Given the description of an element on the screen output the (x, y) to click on. 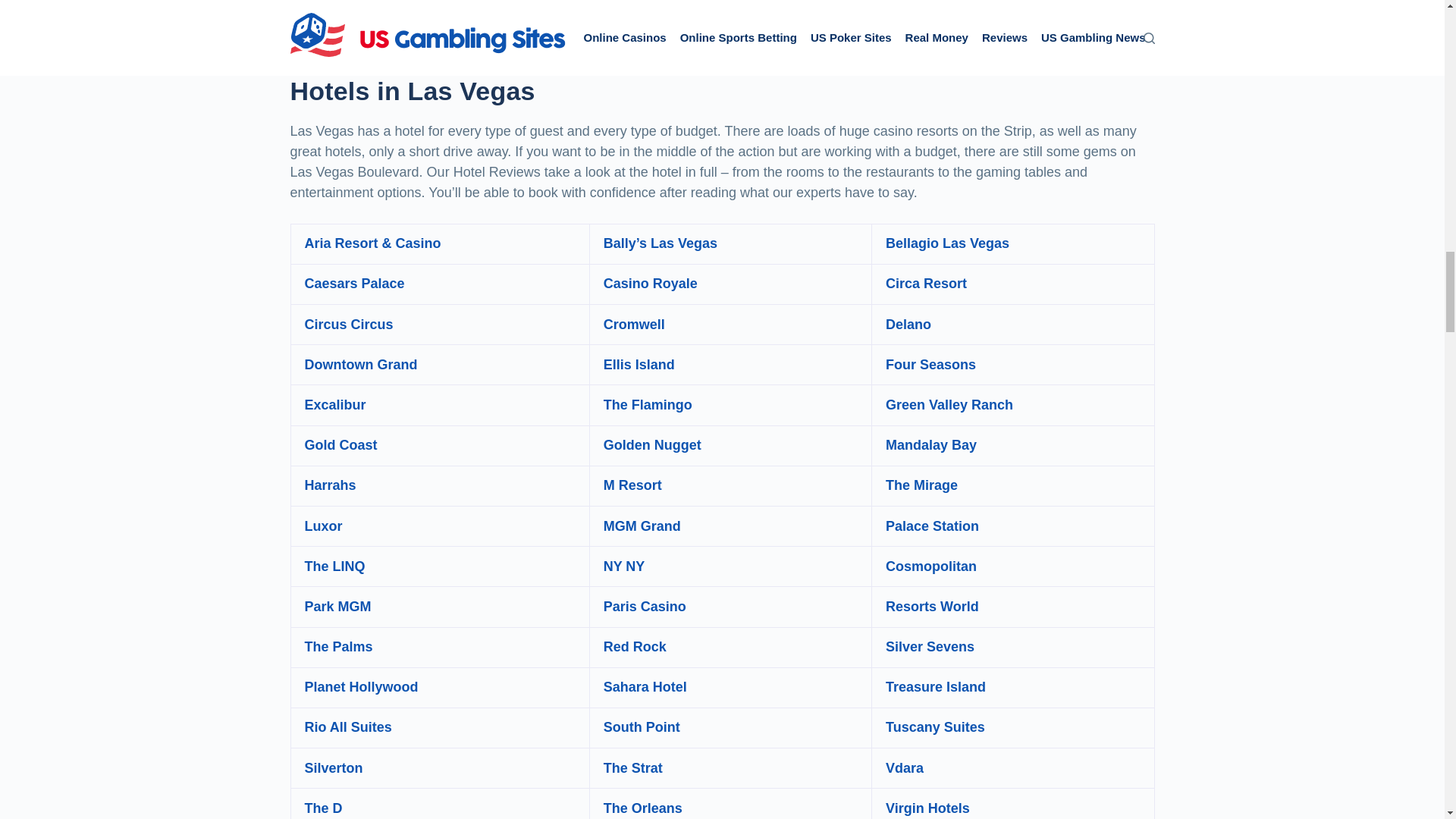
Downtown Grand (360, 364)
Delano (908, 324)
Gold Coast (340, 444)
Golden Nugget (652, 444)
Harrahs (330, 485)
Circus Circus (348, 324)
The Flamingo (648, 404)
Casino Royale (650, 283)
Circa Resort (925, 283)
Excalibur (335, 404)
